Given the description of an element on the screen output the (x, y) to click on. 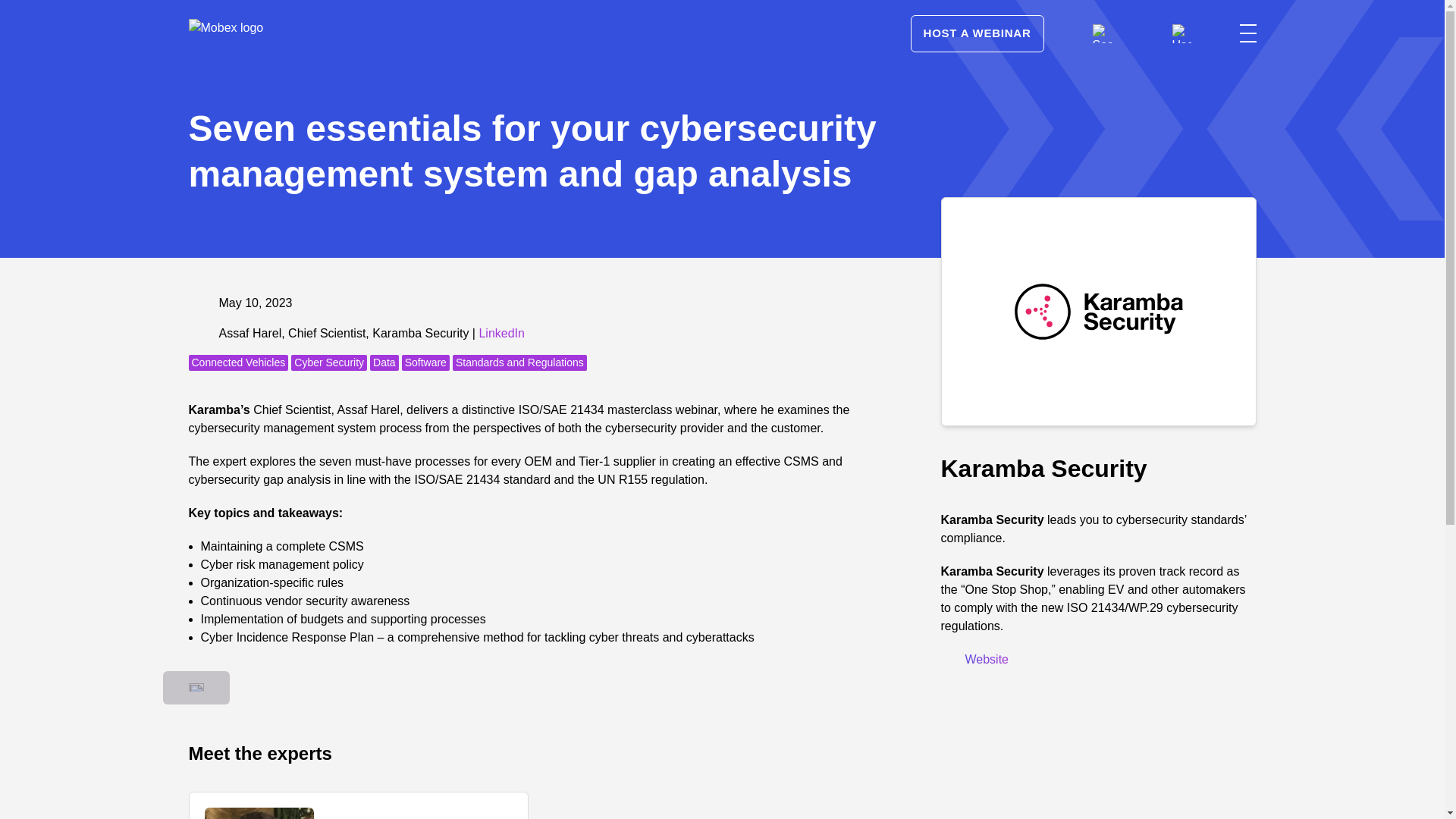
Standards and Regulations (519, 362)
Cyber Security (328, 362)
LinkedIn (501, 332)
Website (974, 658)
Data (383, 362)
Connected Vehicles (237, 362)
Software (425, 362)
HOST A WEBINAR (977, 33)
